Given the description of an element on the screen output the (x, y) to click on. 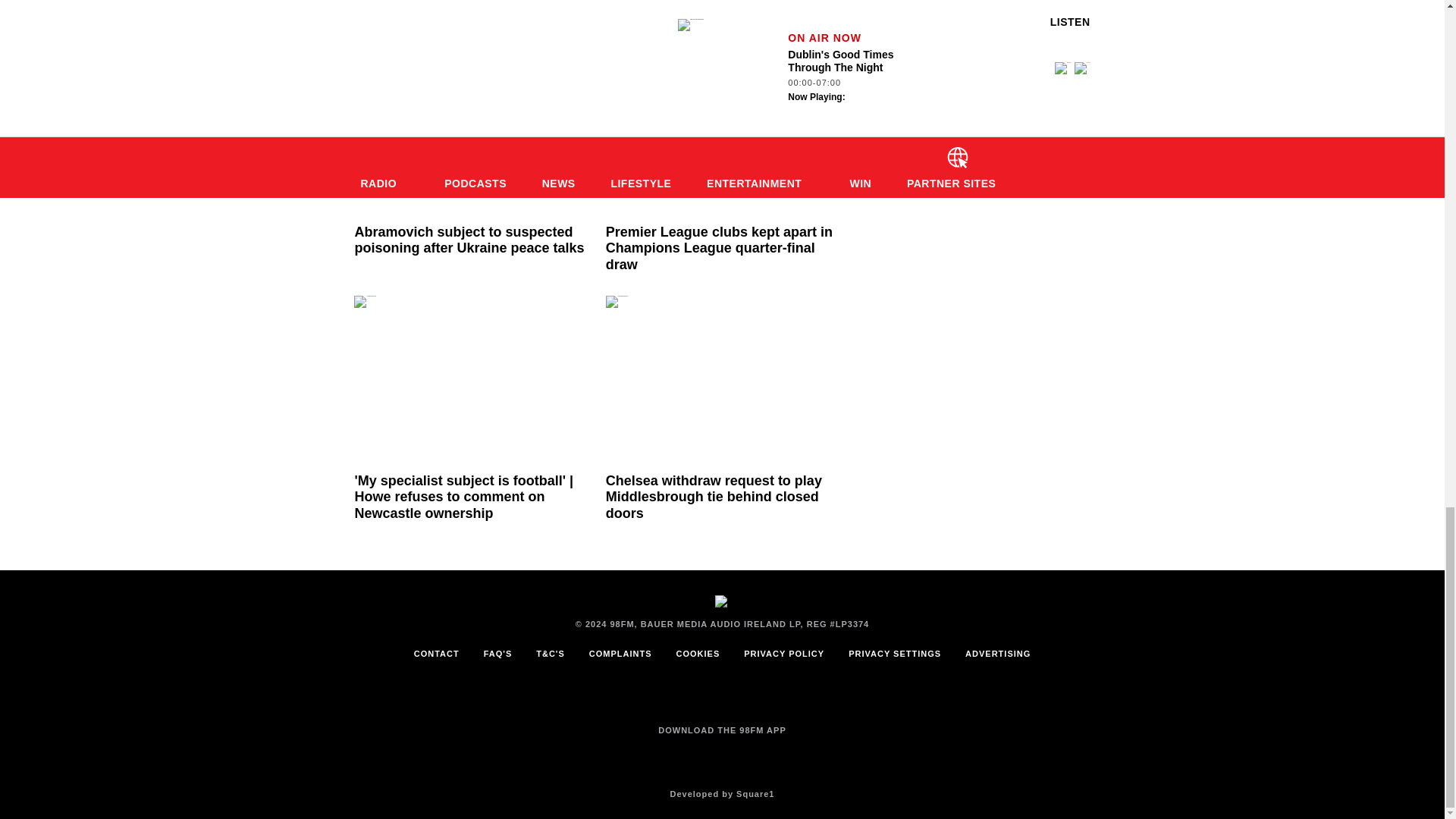
FAQ's (497, 653)
Contact (436, 653)
